Given the description of an element on the screen output the (x, y) to click on. 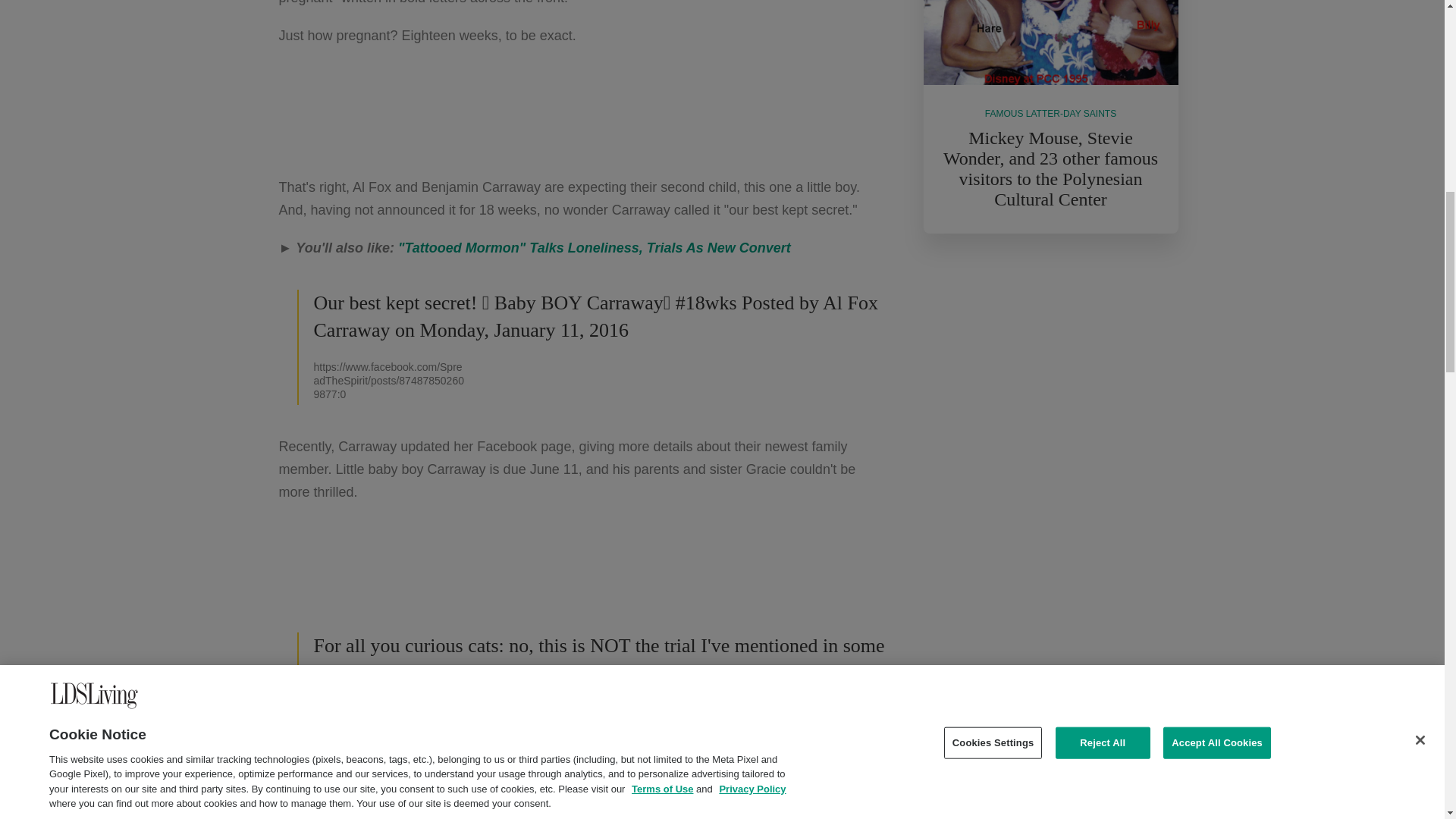
3rd party ad content (582, 567)
3rd party ad content (582, 110)
